Given the description of an element on the screen output the (x, y) to click on. 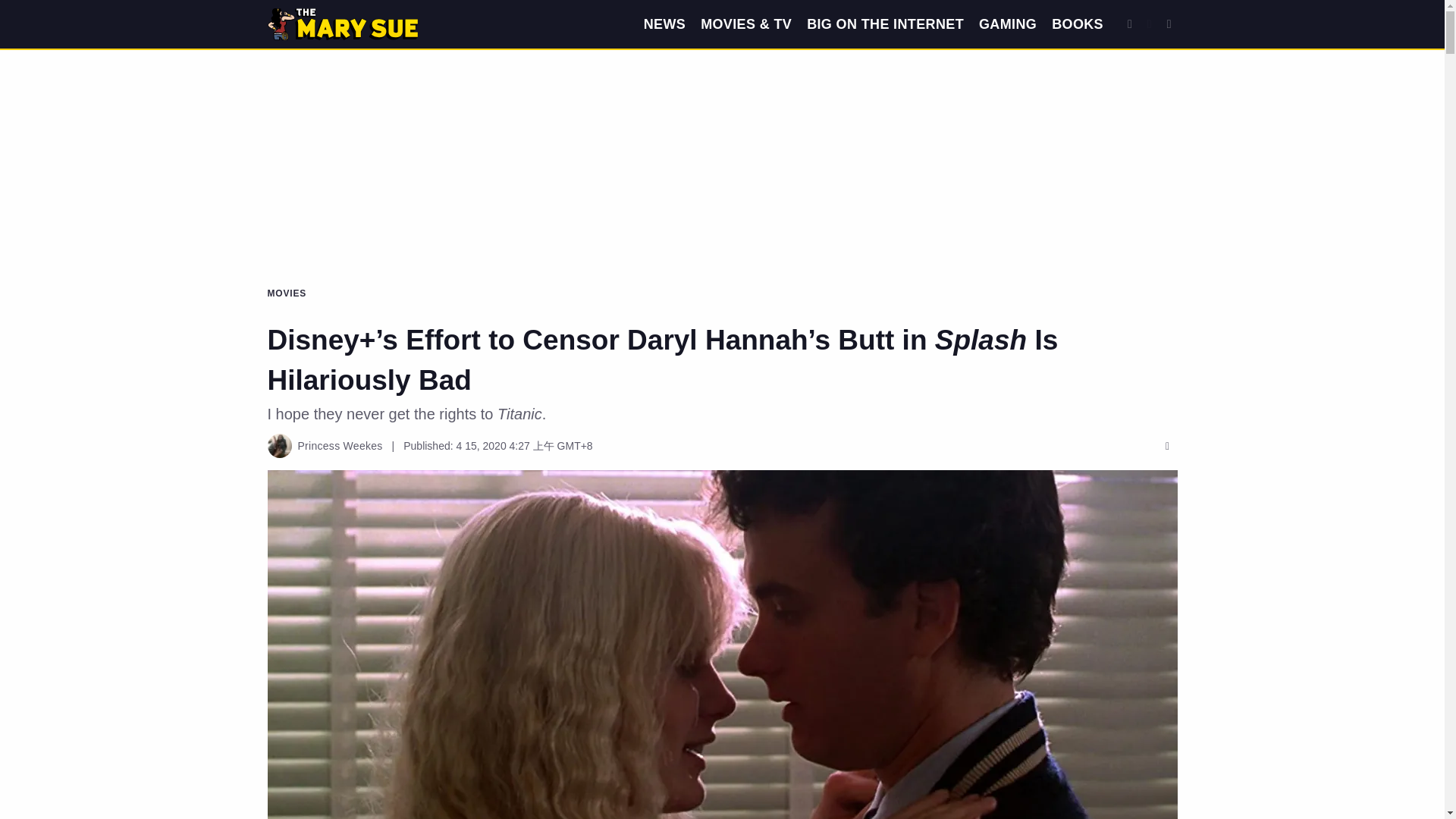
BIG ON THE INTERNET (884, 23)
GAMING (1007, 23)
NEWS (664, 23)
BOOKS (1077, 23)
